Given the description of an element on the screen output the (x, y) to click on. 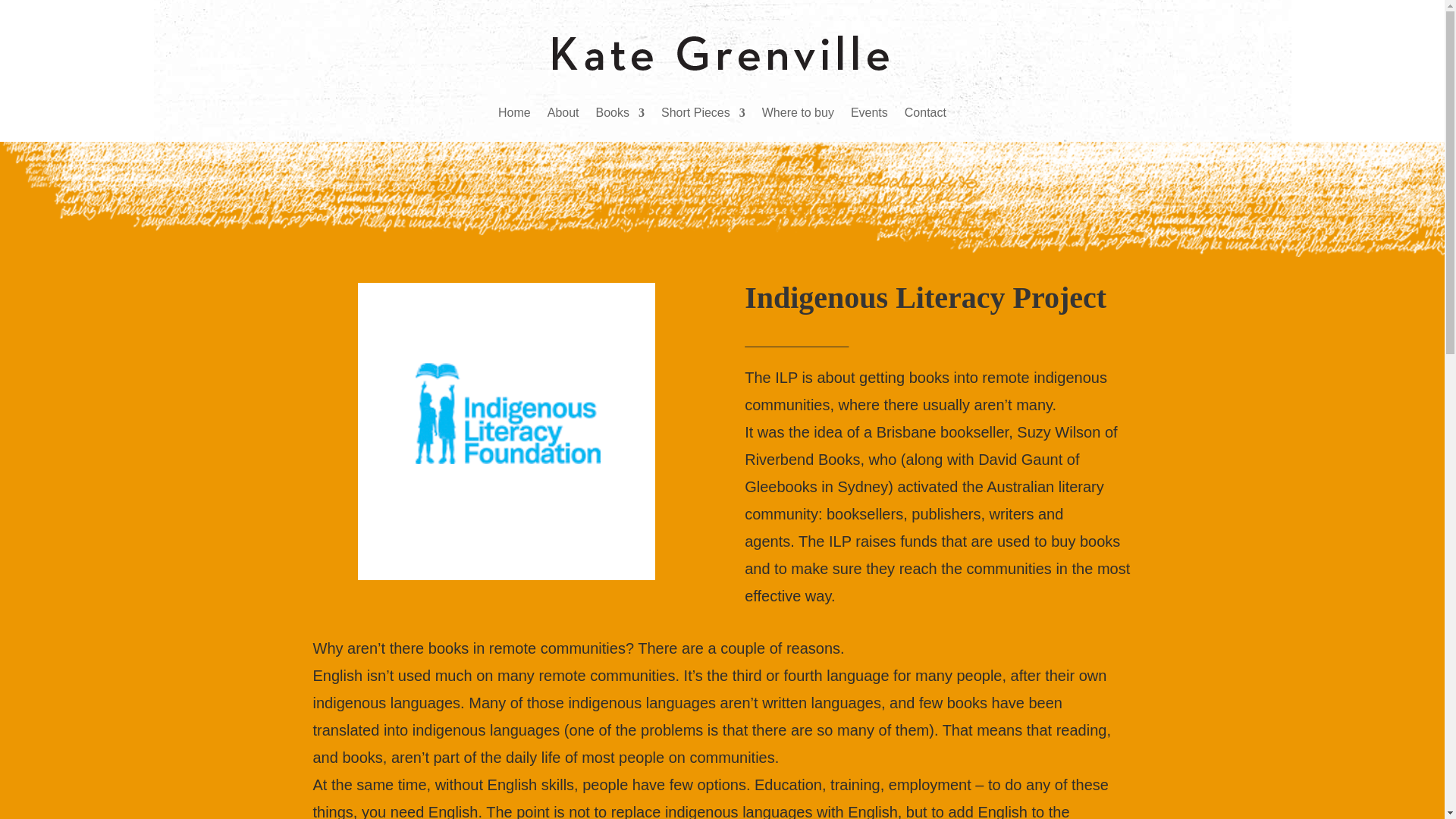
Where to buy (797, 112)
Short Pieces (703, 112)
ILF-logo (506, 430)
